Given the description of an element on the screen output the (x, y) to click on. 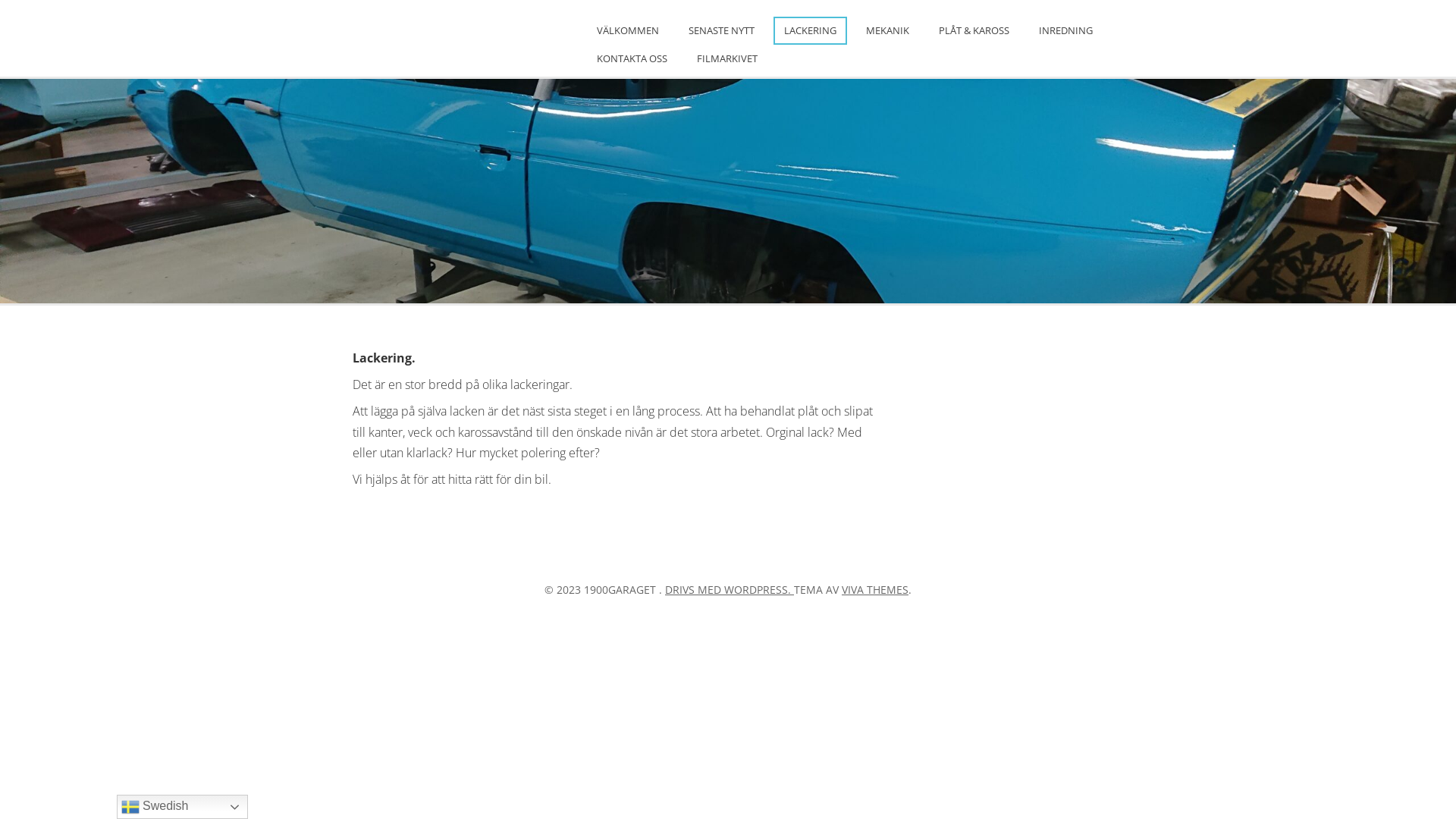
KONTAKTA OSS Element type: text (631, 58)
FILMARKIVET Element type: text (727, 58)
LACKERING Element type: text (810, 30)
DRIVS MED WORDPRESS. Element type: text (729, 589)
MEKANIK Element type: text (887, 30)
SENASTE NYTT Element type: text (721, 30)
INREDNING Element type: text (1065, 30)
VIVA THEMES Element type: text (874, 589)
